Given the description of an element on the screen output the (x, y) to click on. 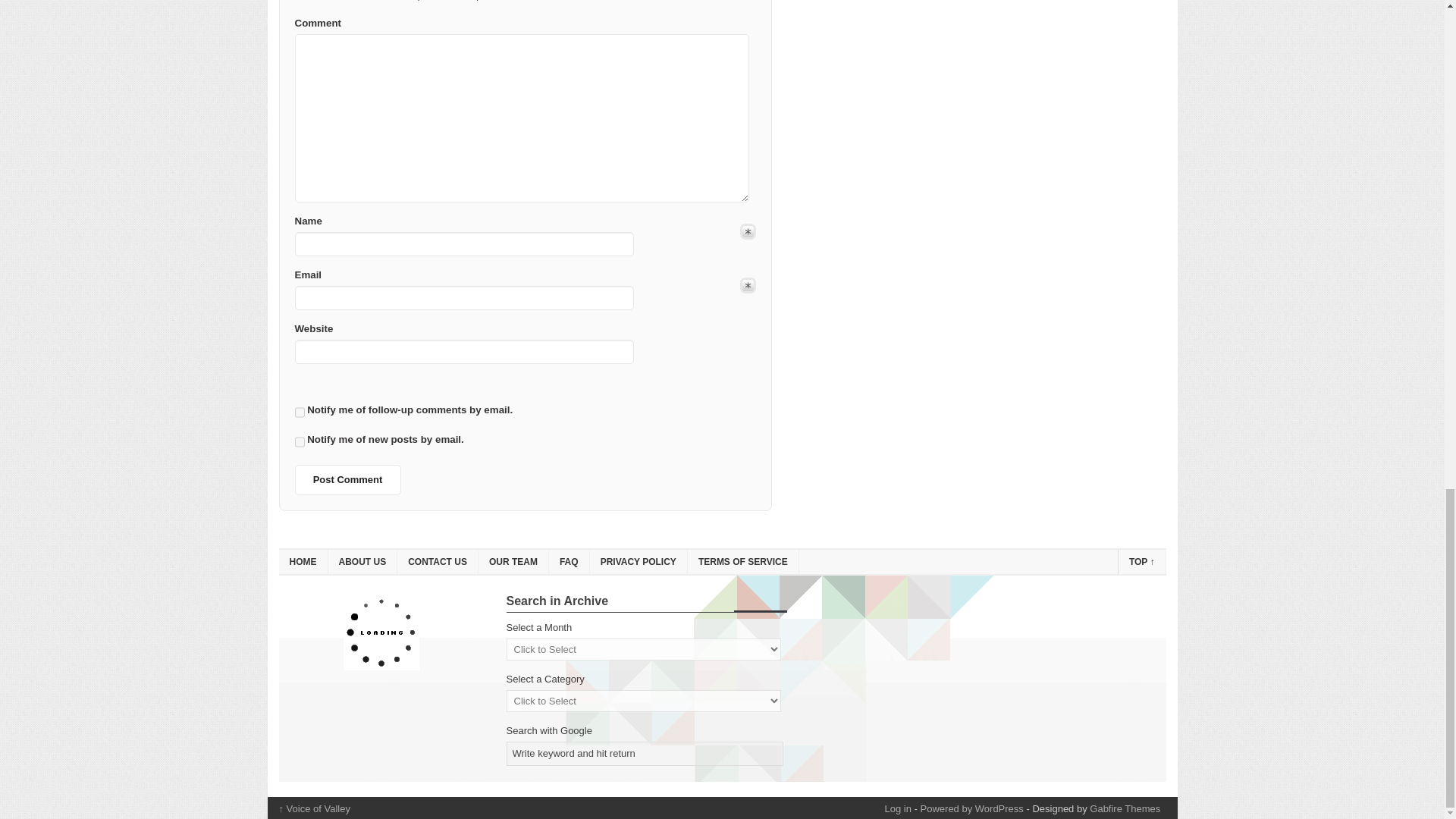
Post Comment (347, 480)
Write keyword and hit return (645, 753)
